Given the description of an element on the screen output the (x, y) to click on. 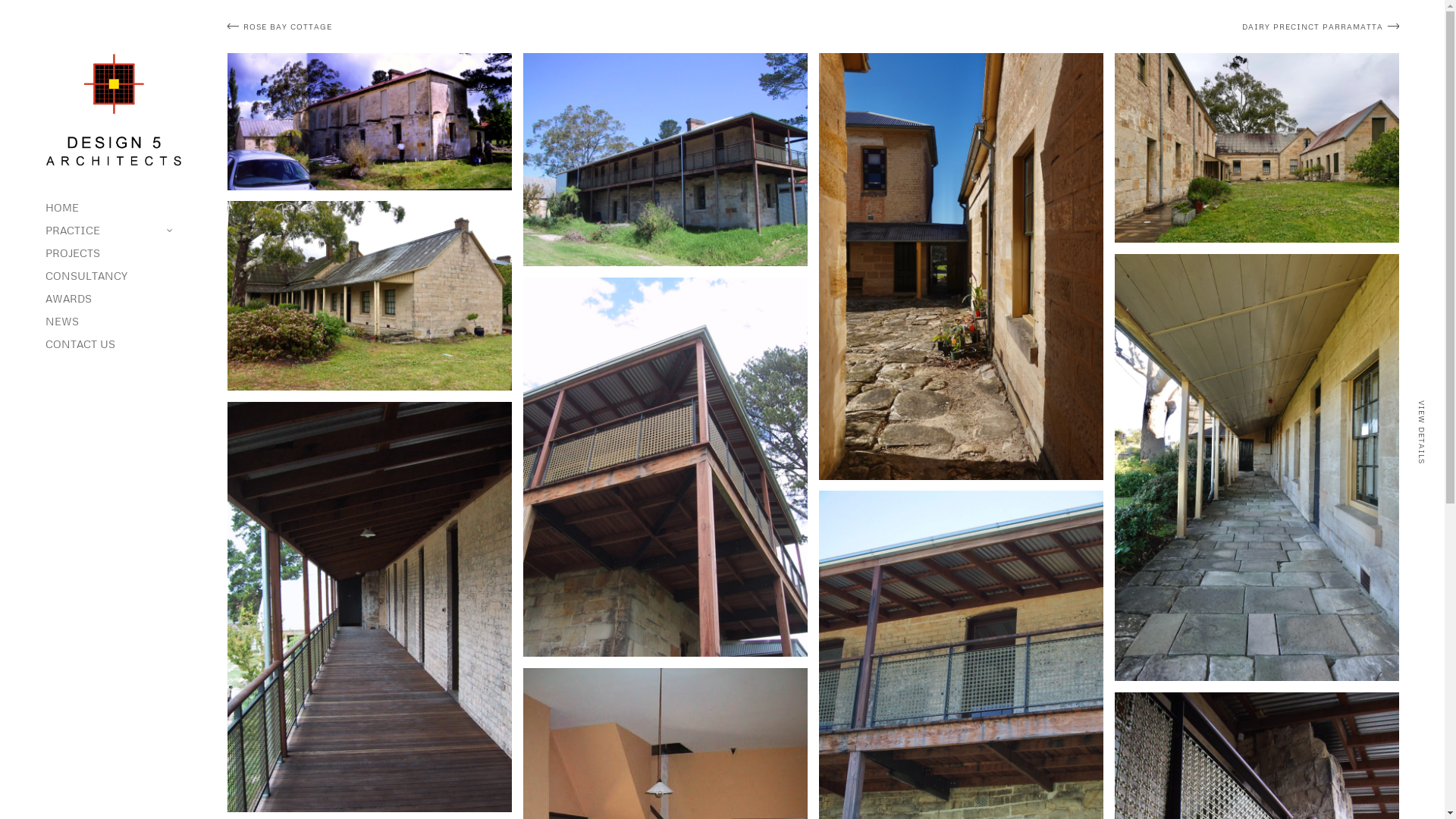
NEWS Element type: text (113, 321)
PROJECTS Element type: text (113, 252)
CONTACT US Element type: text (113, 343)
ROSE BAY COTTAGE Element type: text (516, 26)
CONSULTANCY Element type: text (113, 275)
PRACTICE Element type: text (113, 230)
DAIRY PRECINCT PARRAMATTA Element type: text (1109, 26)
HOME Element type: text (113, 207)
AWARDS Element type: text (113, 298)
